Given the description of an element on the screen output the (x, y) to click on. 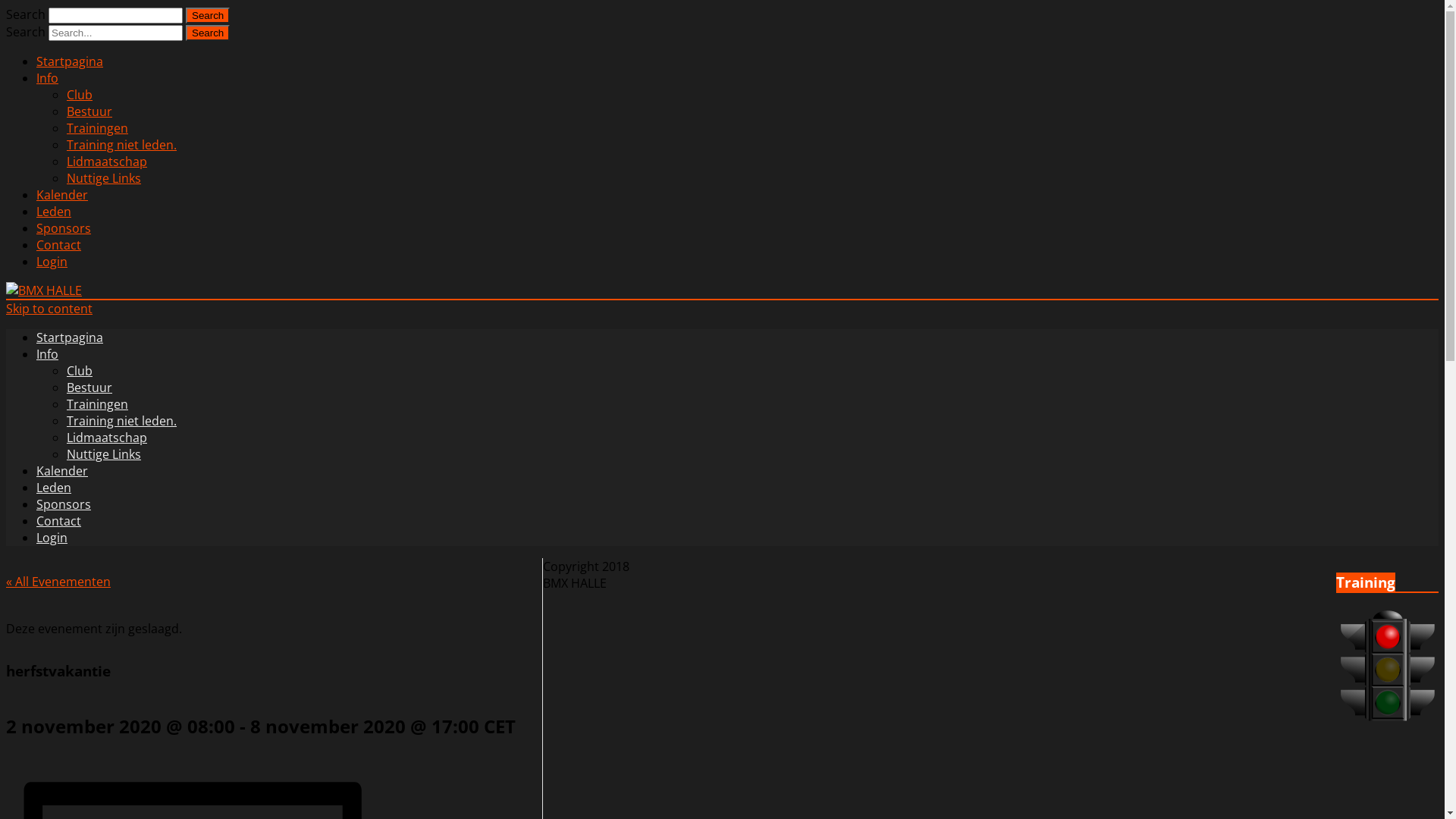
Kalender Element type: text (61, 470)
Search Element type: text (207, 32)
Club Element type: text (79, 370)
Trainingen Element type: text (97, 127)
Training niet leden. Element type: text (121, 144)
Training niet leden. Element type: text (121, 420)
Lidmaatschap Element type: text (106, 161)
Info Element type: text (47, 353)
Sponsors Element type: text (63, 503)
Bestuur Element type: text (89, 111)
Trainingen Element type: text (97, 403)
Skip to content Element type: text (49, 308)
Contact Element type: text (58, 520)
Startpagina Element type: text (69, 337)
Login Element type: text (51, 537)
Bestuur Element type: text (89, 387)
Startpagina Element type: text (69, 61)
Login Element type: text (51, 261)
Search Element type: text (207, 15)
Sponsors Element type: text (63, 227)
Info Element type: text (47, 77)
Nuttige Links Element type: text (103, 177)
Lidmaatschap Element type: text (106, 437)
Leden Element type: text (53, 487)
Contact Element type: text (58, 244)
Club Element type: text (79, 94)
Leden Element type: text (53, 211)
Nuttige Links Element type: text (103, 453)
Kalender Element type: text (61, 194)
